Given the description of an element on the screen output the (x, y) to click on. 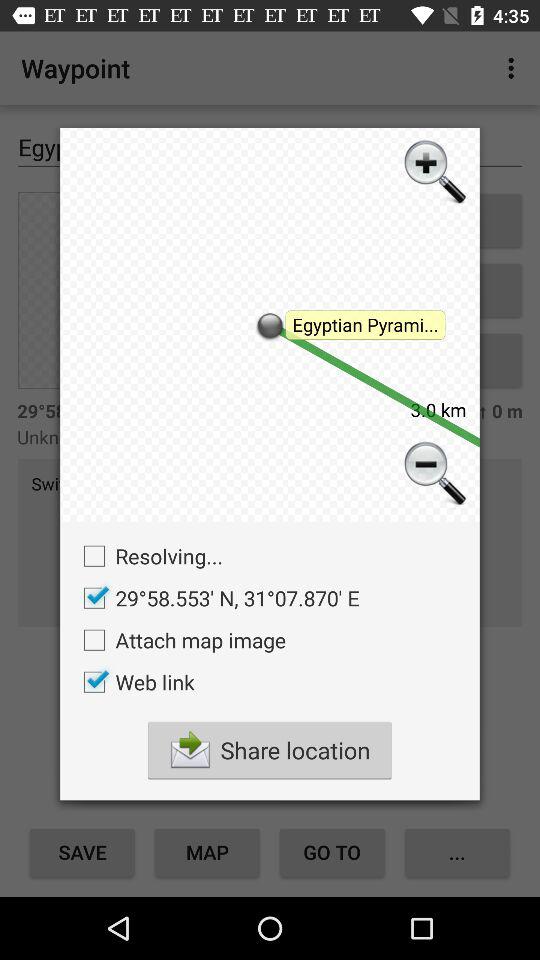
turn on checkbox above web link (179, 640)
